Given the description of an element on the screen output the (x, y) to click on. 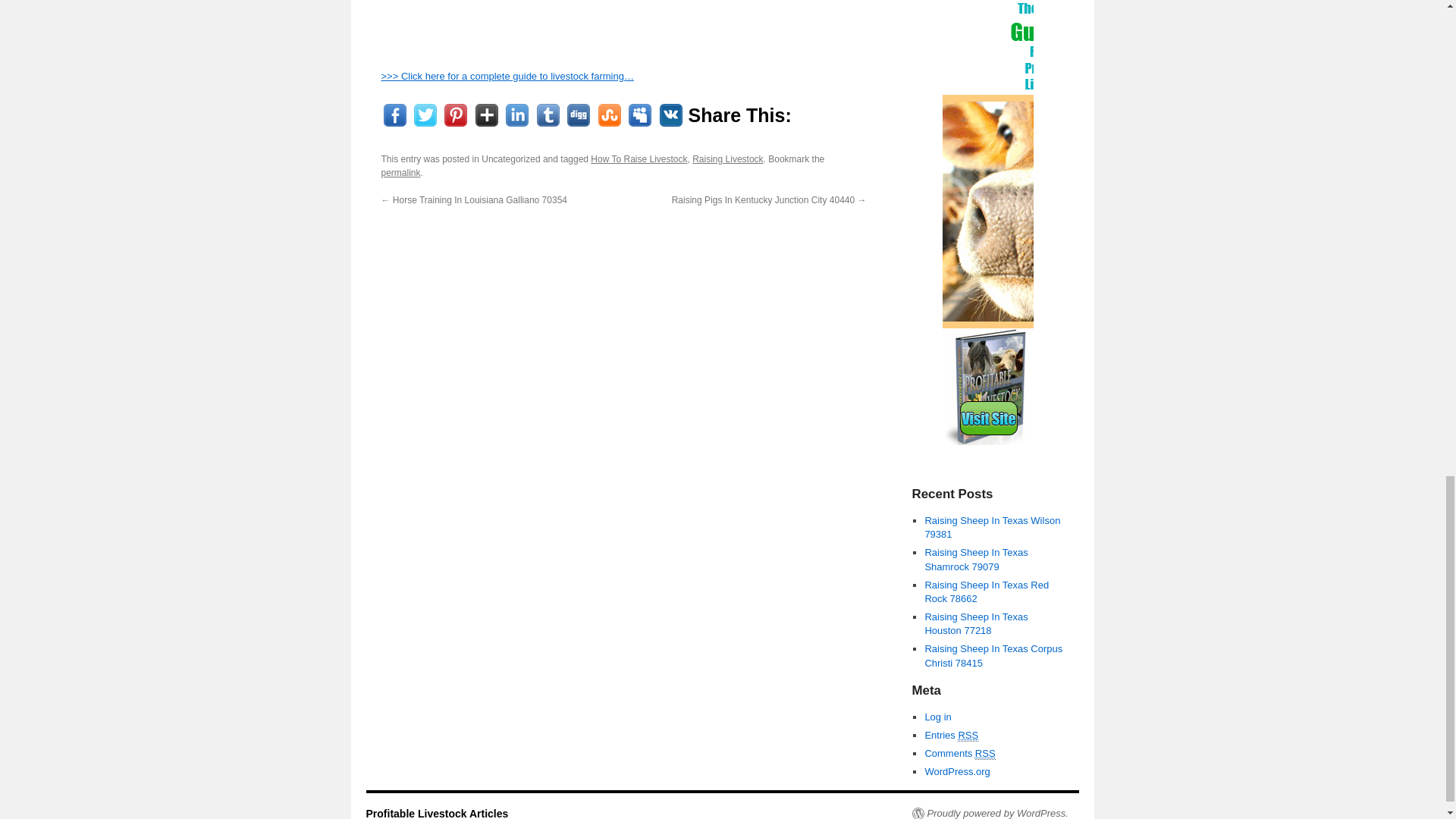
How To Raise Livestock (639, 158)
permalink (400, 172)
Permalink to Raising Livestock In California Poway 92064 (400, 172)
Really Simple Syndication (968, 735)
Raising Livestock (727, 158)
Really Simple Syndication (985, 753)
